Given the description of an element on the screen output the (x, y) to click on. 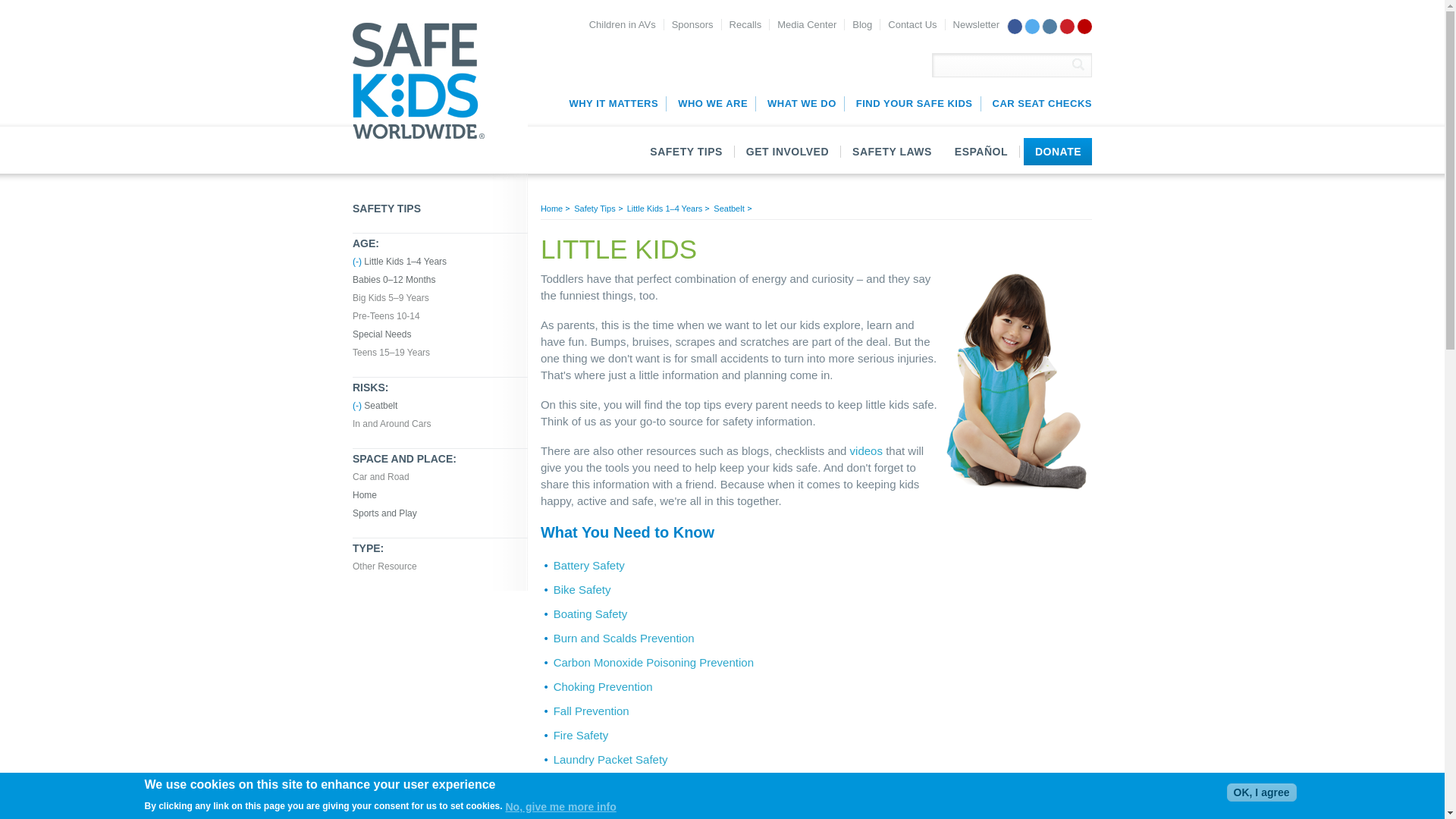
FIND YOUR SAFE KIDS (912, 103)
Car Seat Events (1037, 103)
facebook (384, 566)
Children in AVs (1014, 26)
Apply (626, 24)
WHO WE ARE (1077, 64)
Blog (710, 103)
DONATE (861, 24)
Apply (1057, 151)
instagram (1077, 64)
youtube (1049, 26)
twitter (380, 476)
